Given the description of an element on the screen output the (x, y) to click on. 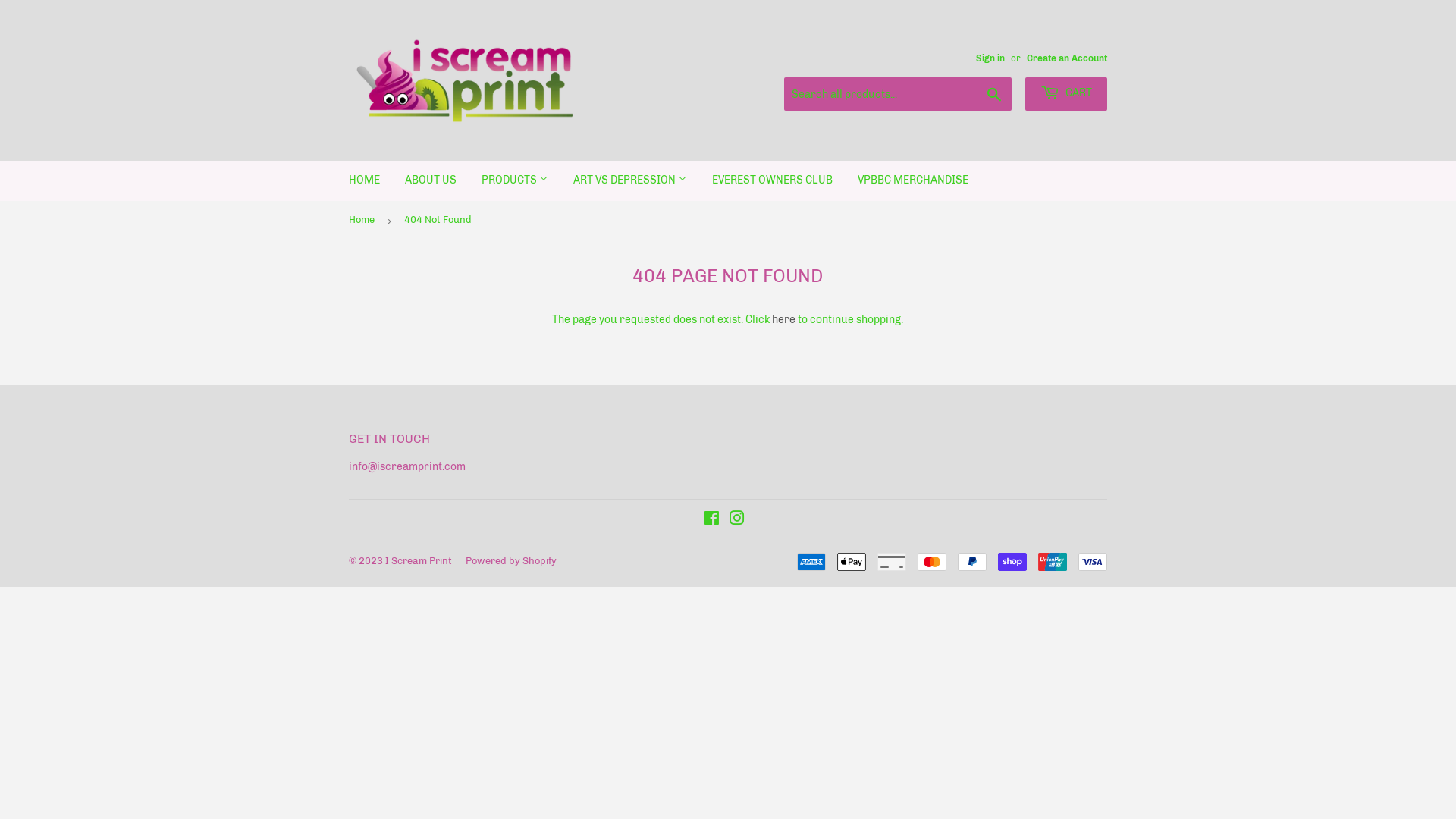
Powered by Shopify Element type: text (510, 560)
ABOUT US Element type: text (430, 180)
CART Element type: text (1066, 93)
Sign in Element type: text (989, 58)
PRODUCTS Element type: text (514, 180)
Facebook Element type: text (711, 520)
VPBBC MERCHANDISE Element type: text (912, 180)
here Element type: text (783, 319)
Home Element type: text (363, 219)
I Scream Print Element type: text (418, 560)
Create an Account Element type: text (1066, 58)
Instagram Element type: text (736, 520)
HOME Element type: text (364, 180)
EVEREST OWNERS CLUB Element type: text (772, 180)
Search Element type: text (994, 94)
ART VS DEPRESSION Element type: text (629, 180)
